Given the description of an element on the screen output the (x, y) to click on. 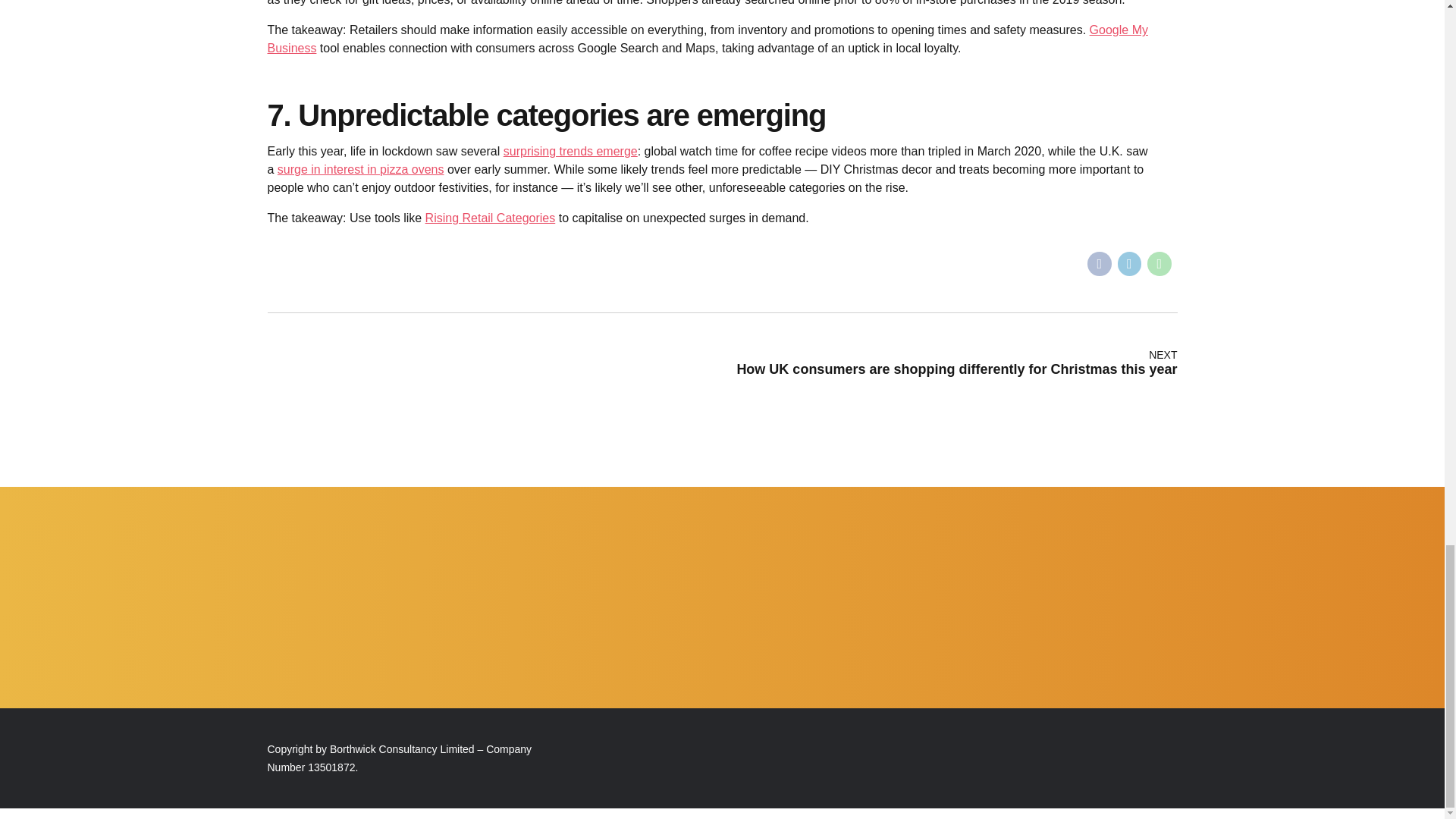
surge in interest in pizza ovens (361, 169)
Share on WhatsApp (1159, 263)
Share on Facebook (1099, 263)
Google My Business (706, 38)
surprising trends emerge (570, 151)
Rising Retail Categories (490, 217)
Share on Linkedin (1129, 263)
